Given the description of an element on the screen output the (x, y) to click on. 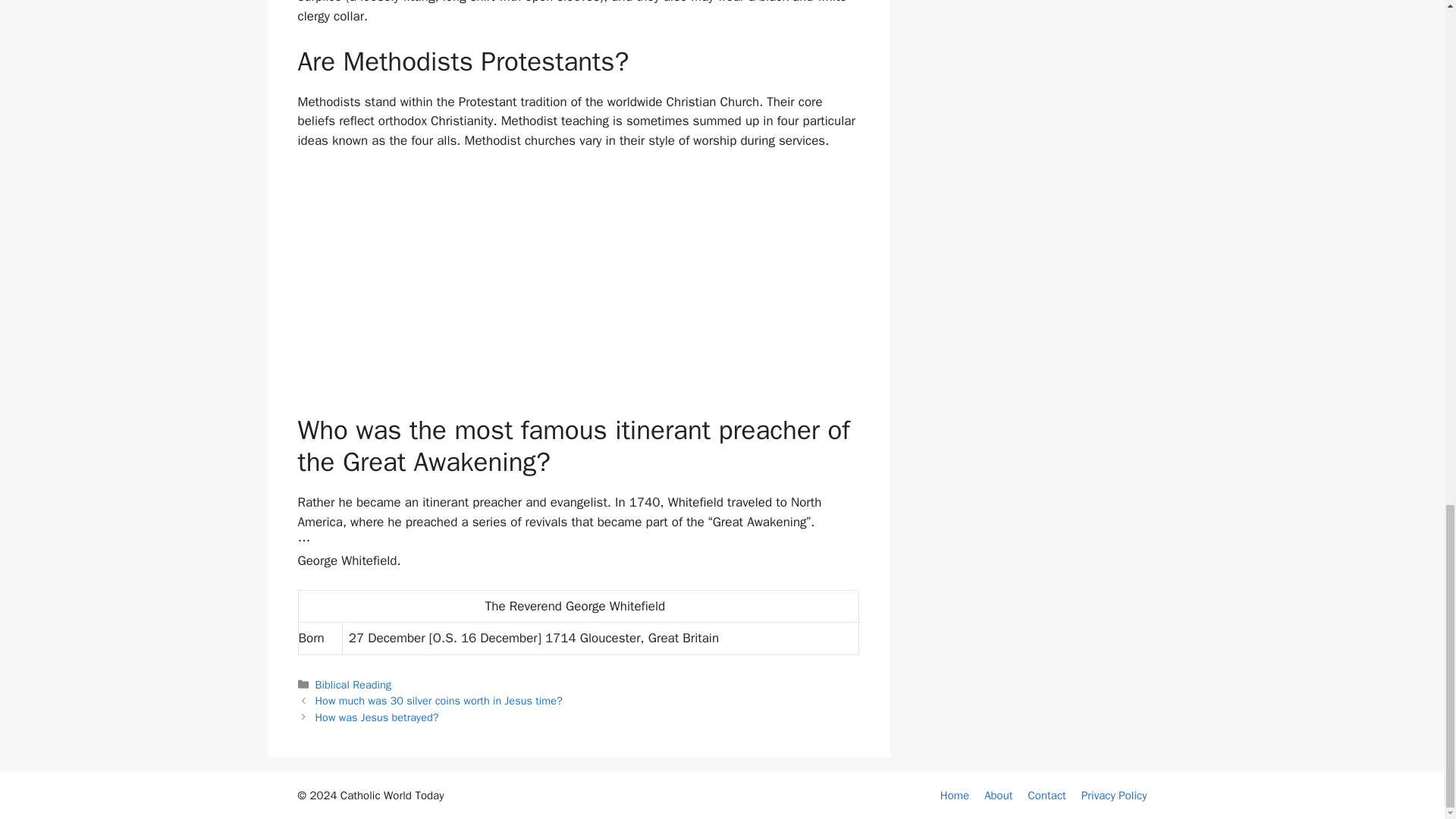
Contact (1046, 795)
Home (954, 795)
How much was 30 silver coins worth in Jesus time? (438, 700)
About (997, 795)
Privacy Policy (1114, 795)
Biblical Reading (353, 684)
How was Jesus betrayed? (377, 716)
Scroll back to top (1406, 205)
